Given the description of an element on the screen output the (x, y) to click on. 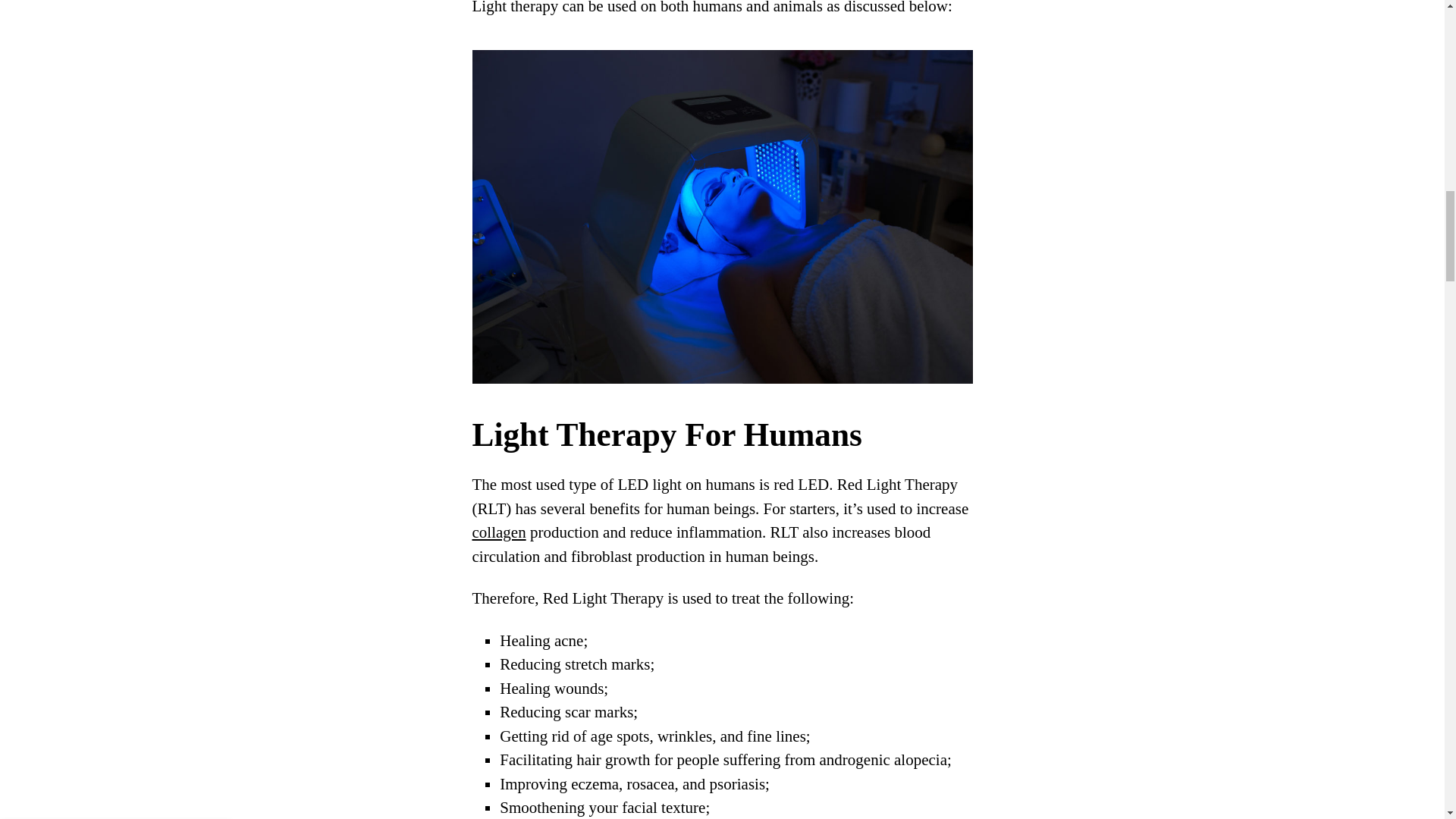
collagen (498, 532)
